Given the description of an element on the screen output the (x, y) to click on. 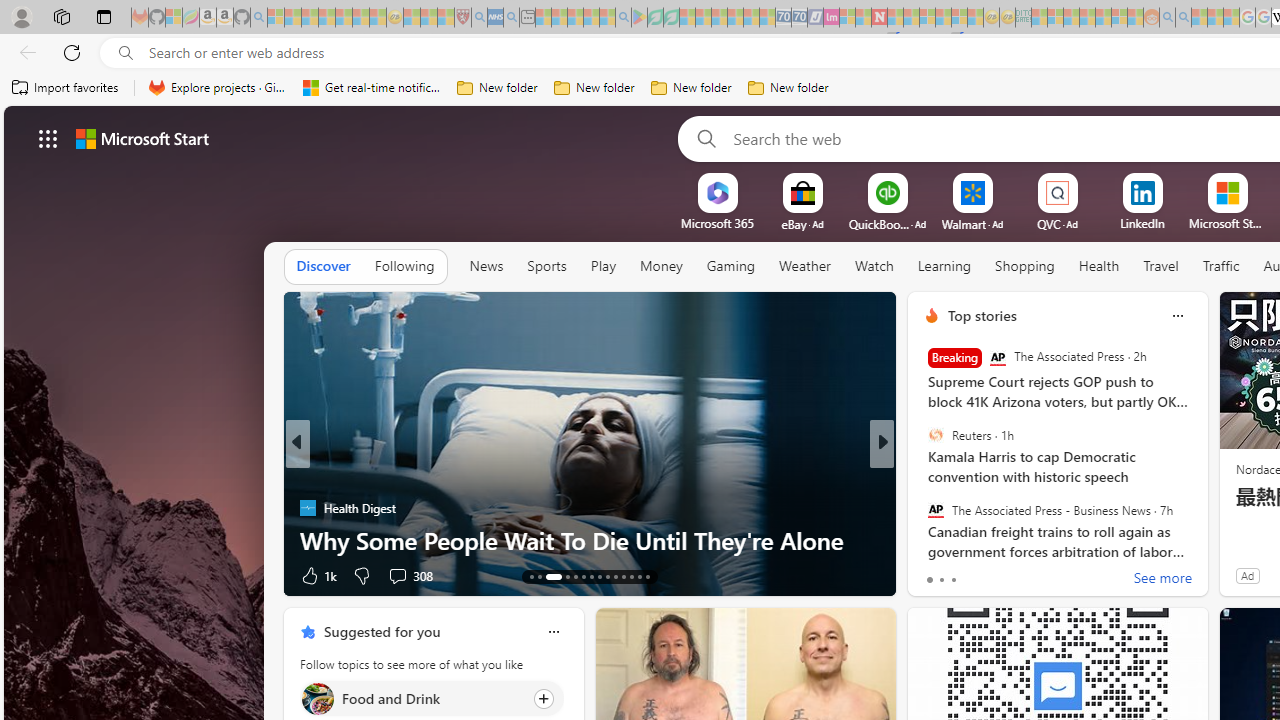
tab-0 (928, 579)
View comments 308 Comment (397, 575)
Utah sues federal government - Search - Sleeping (1183, 17)
New tab - Sleeping (527, 17)
364 Like (936, 574)
Gaming (730, 267)
View comments 6 Comment (1019, 574)
Traffic (1220, 267)
